Given the description of an element on the screen output the (x, y) to click on. 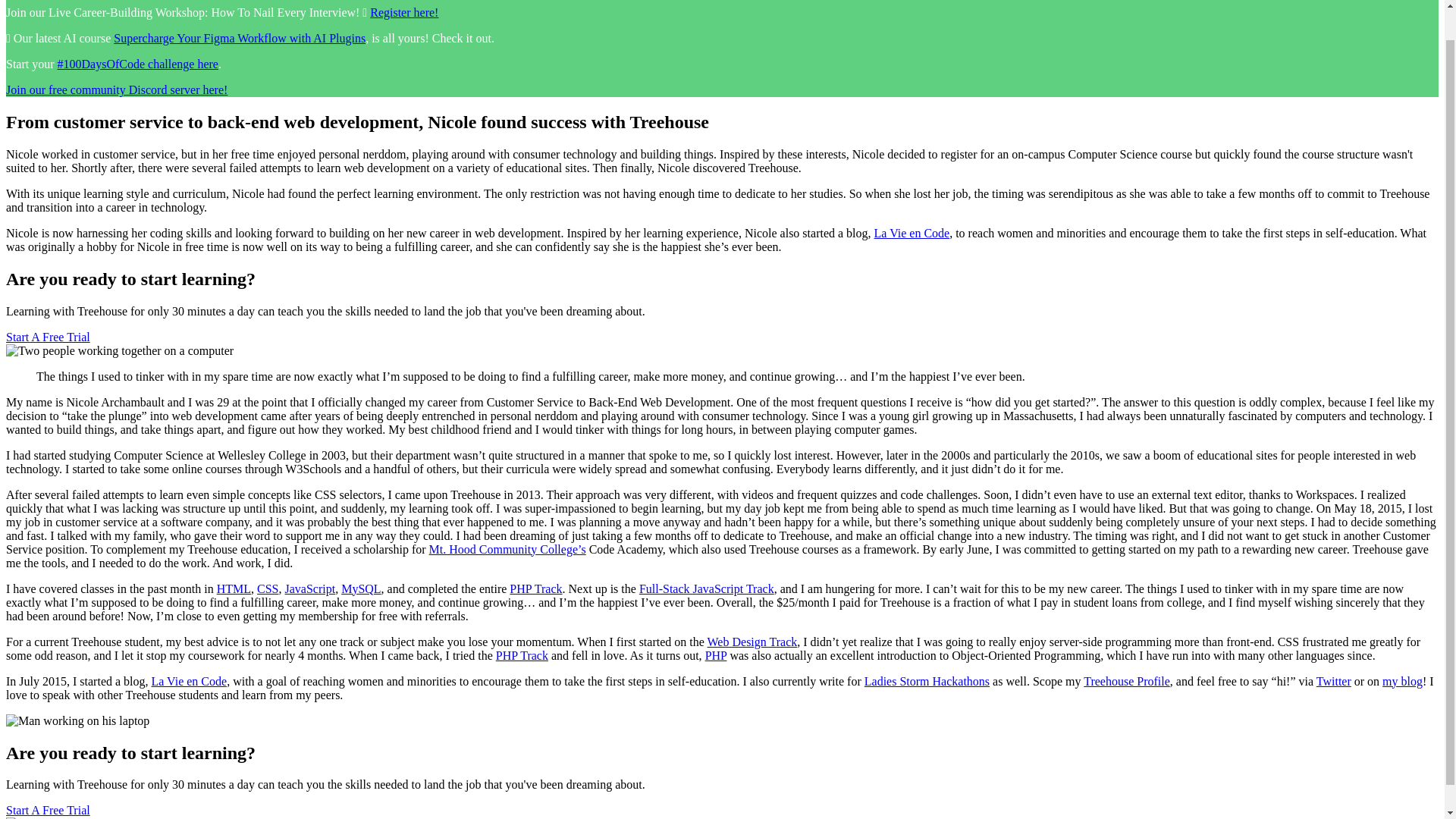
Join our free community Discord server here! (116, 89)
Supercharge Your Figma Workflow with AI Plugins (239, 38)
Register here! (403, 11)
